Given the description of an element on the screen output the (x, y) to click on. 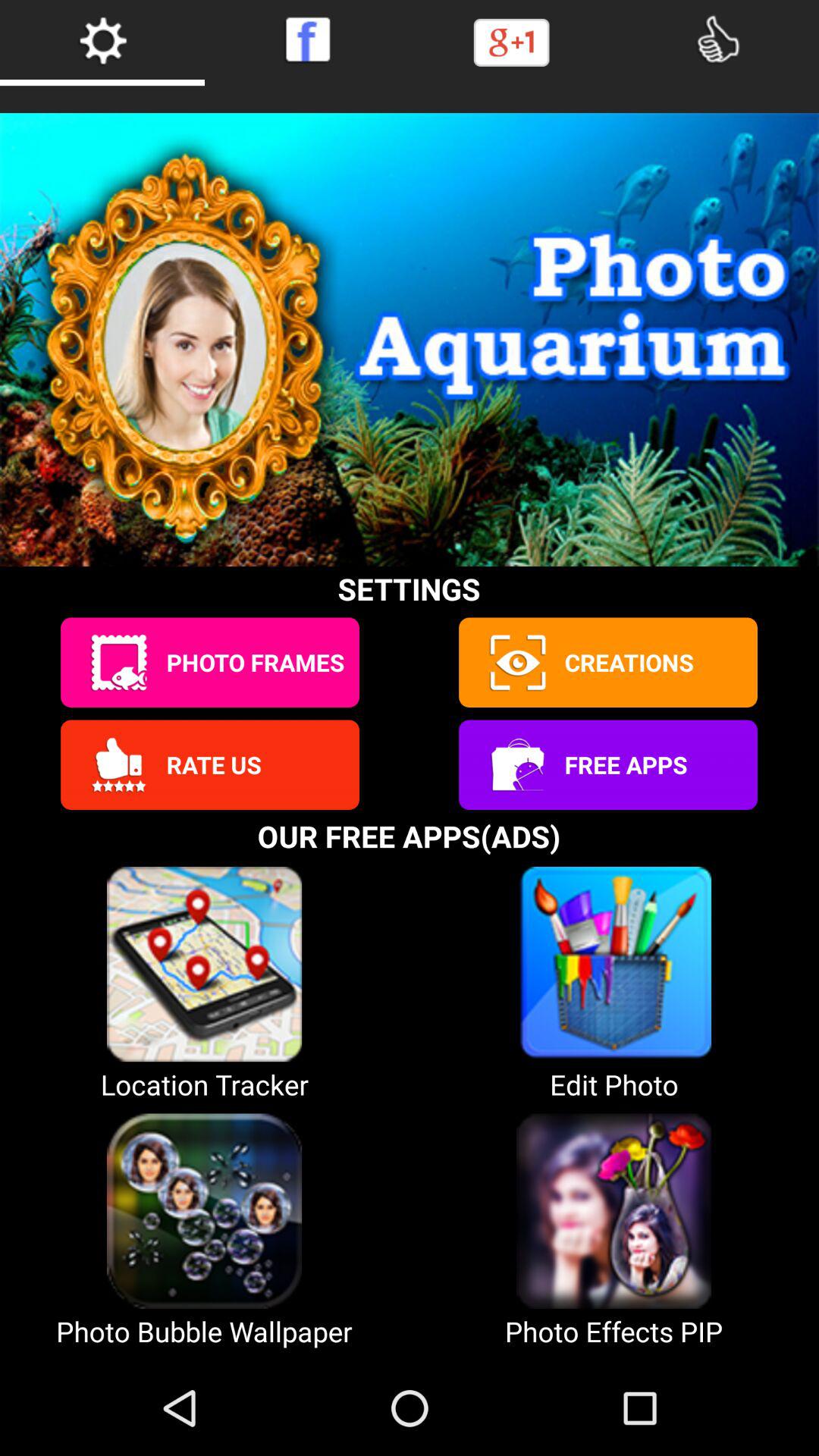
view creations (516, 662)
